Given the description of an element on the screen output the (x, y) to click on. 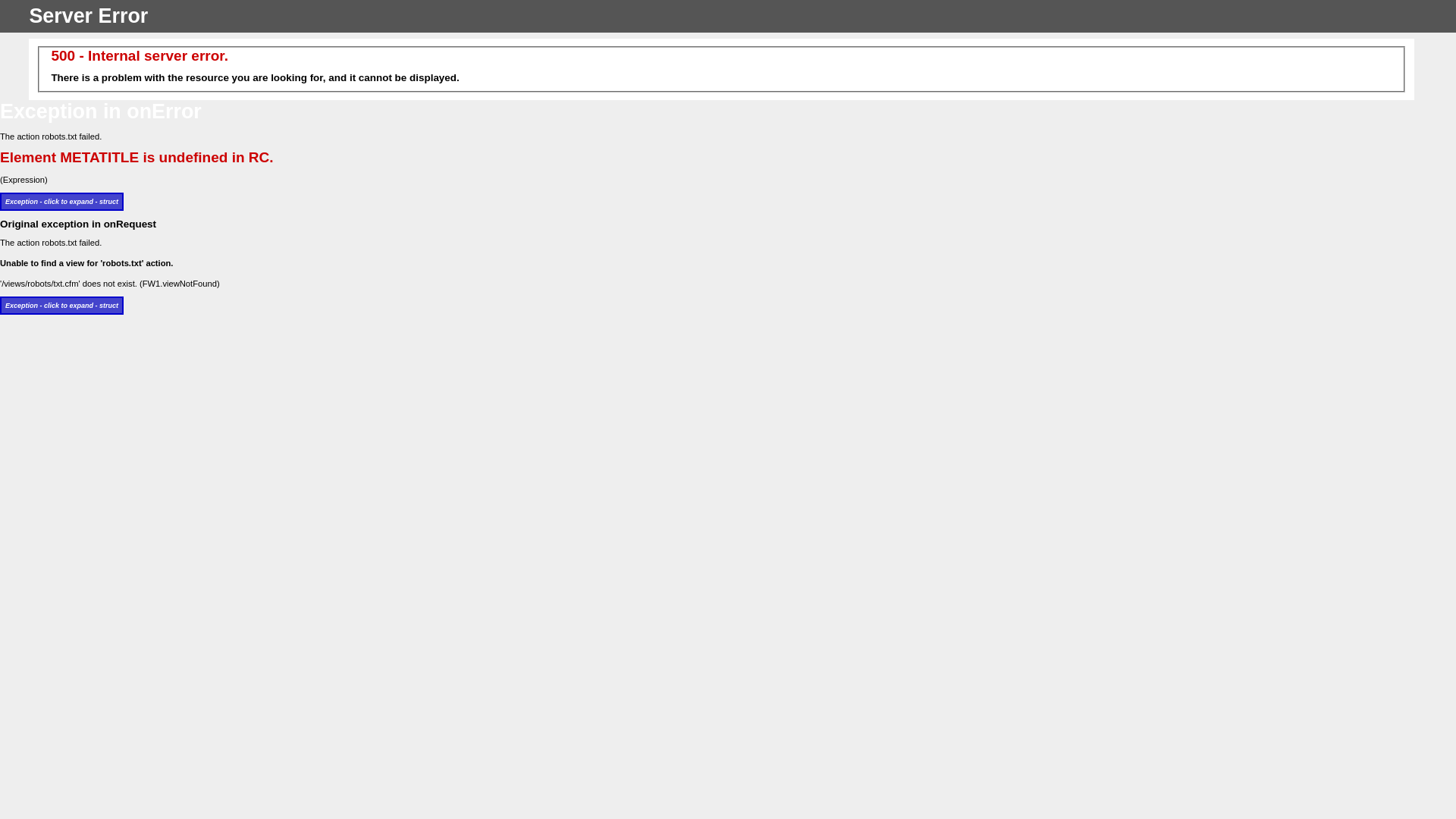
Exception - click to expand - struct Element type: text (61, 305)
Exception - click to expand - struct Element type: text (61, 201)
